Given the description of an element on the screen output the (x, y) to click on. 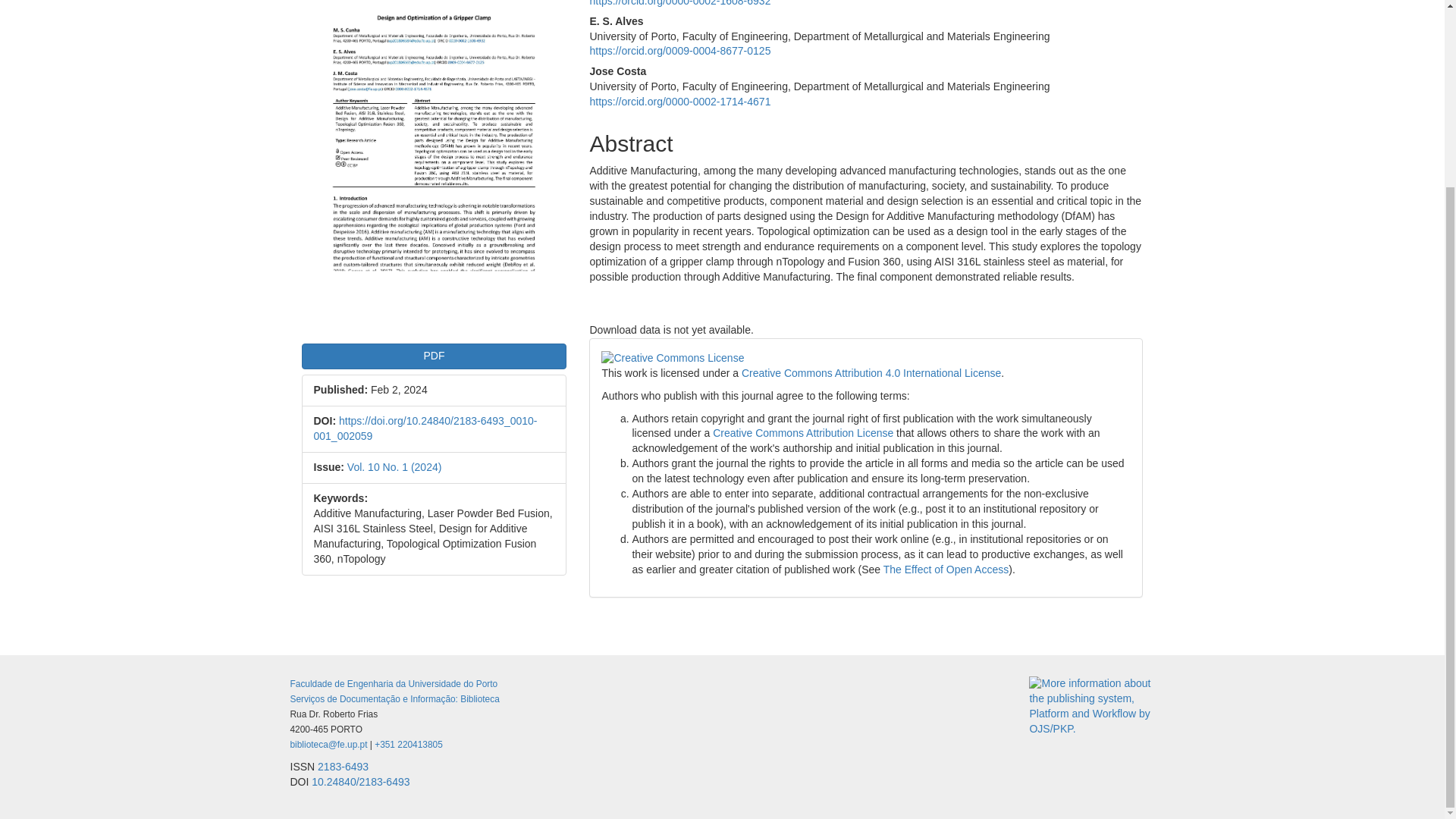
Faculdade de Engenharia da Universidade do Porto (393, 683)
2183-6493 (342, 766)
ROAD information (342, 766)
PDF (434, 356)
Creative Commons Attribution License (803, 432)
Creative Commons Attribution 4.0 International License (871, 372)
The Effect of Open Access (946, 569)
Biblioteca da FEUP (327, 744)
